Given the description of an element on the screen output the (x, y) to click on. 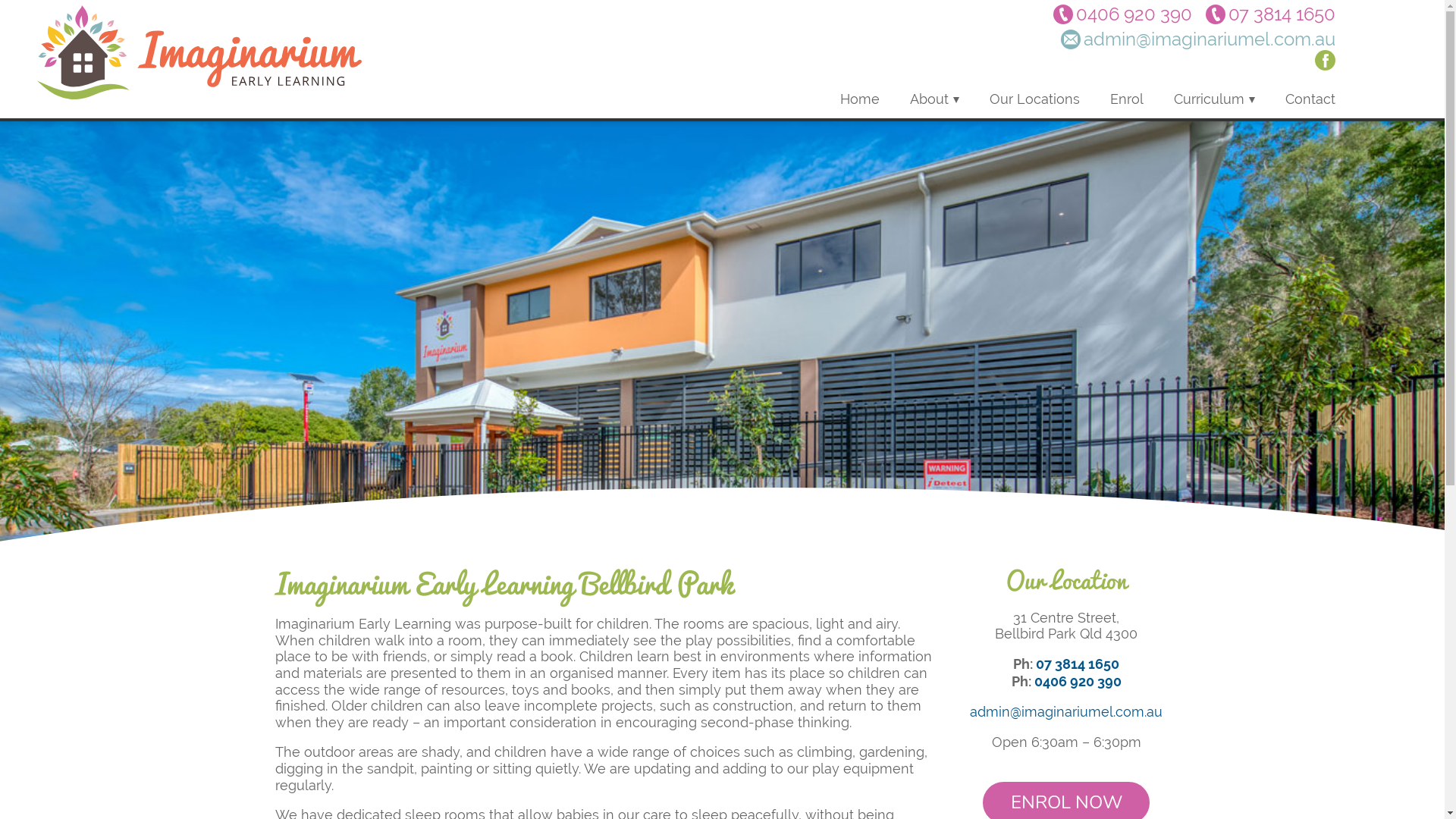
Contact Element type: text (1310, 98)
admin@imaginariumel.com.au Element type: text (1065, 711)
Home Element type: text (859, 98)
0406 920 390 Element type: text (1077, 681)
Our Locations Element type: text (1034, 98)
About Element type: text (934, 98)
admin@imaginariumel.com.au Element type: text (1197, 39)
Enrol Element type: text (1126, 98)
07 3814 1650 Element type: text (1270, 14)
0406 920 390 Element type: text (1122, 14)
Curriculum Element type: text (1214, 98)
07 3814 1650 Element type: text (1077, 663)
